Given the description of an element on the screen output the (x, y) to click on. 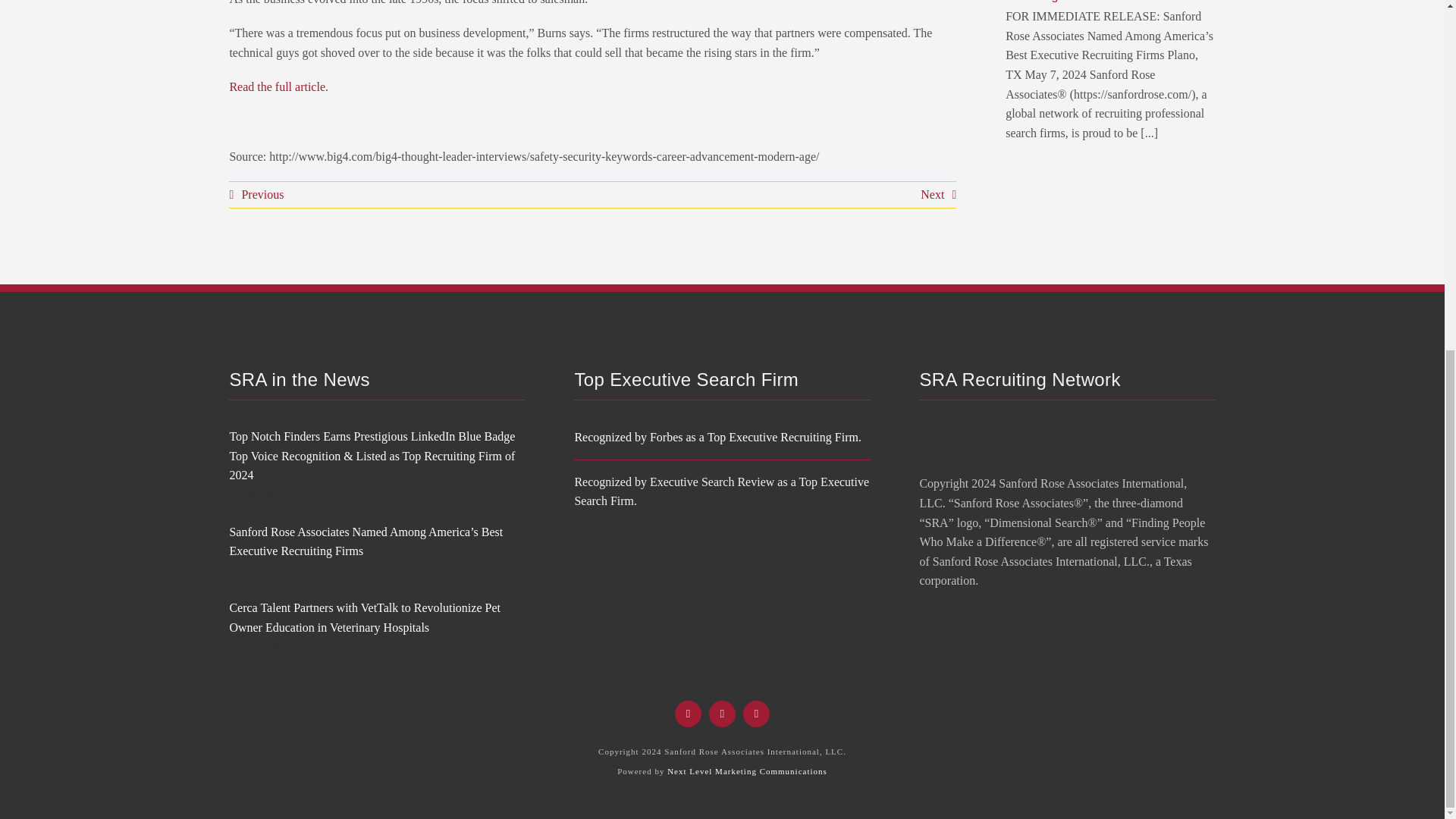
Facebook (688, 714)
SRA-Diamonds-White (965, 438)
LinkedIn (756, 714)
X (722, 714)
